Given the description of an element on the screen output the (x, y) to click on. 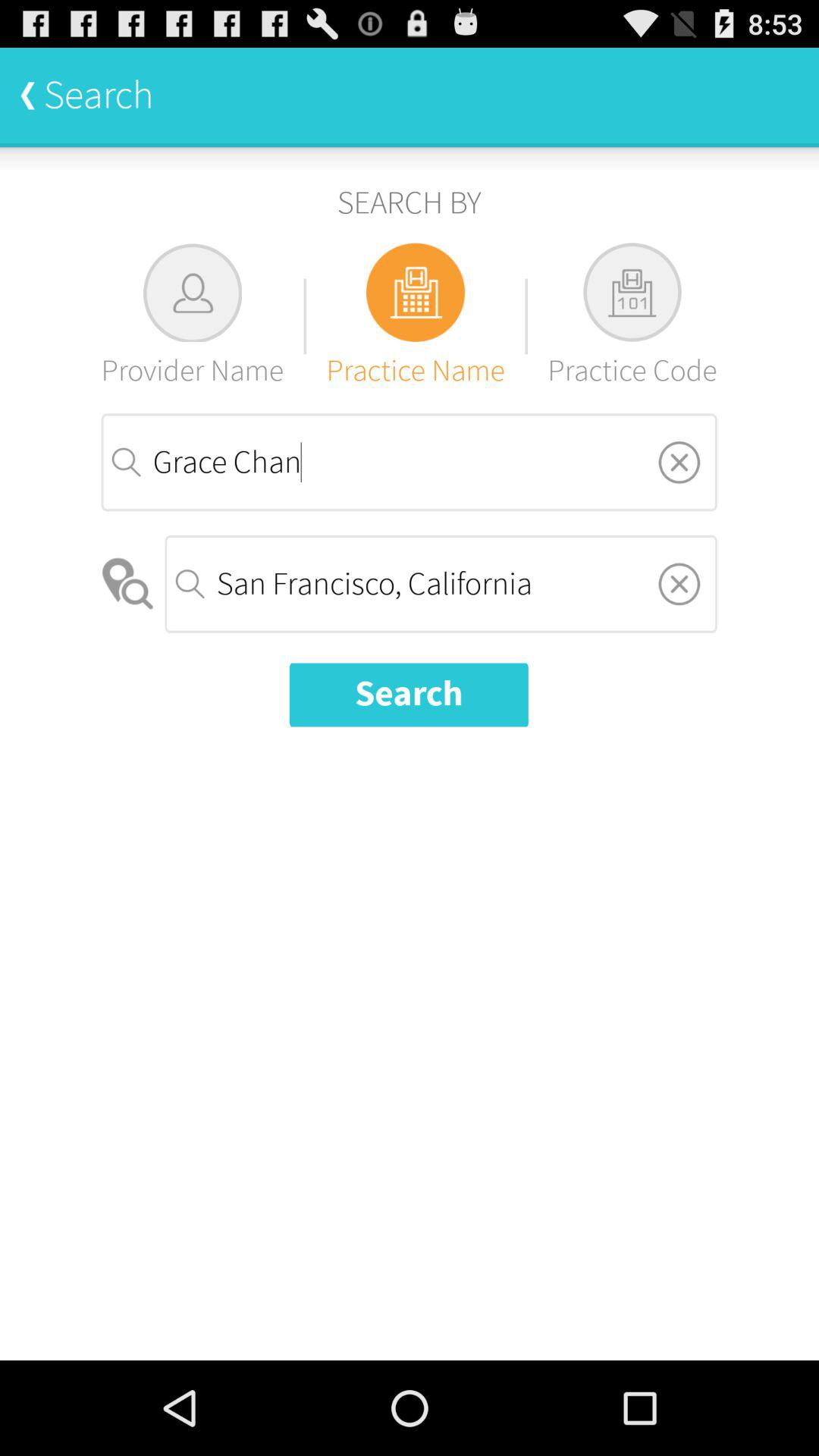
delete field (679, 583)
